Given the description of an element on the screen output the (x, y) to click on. 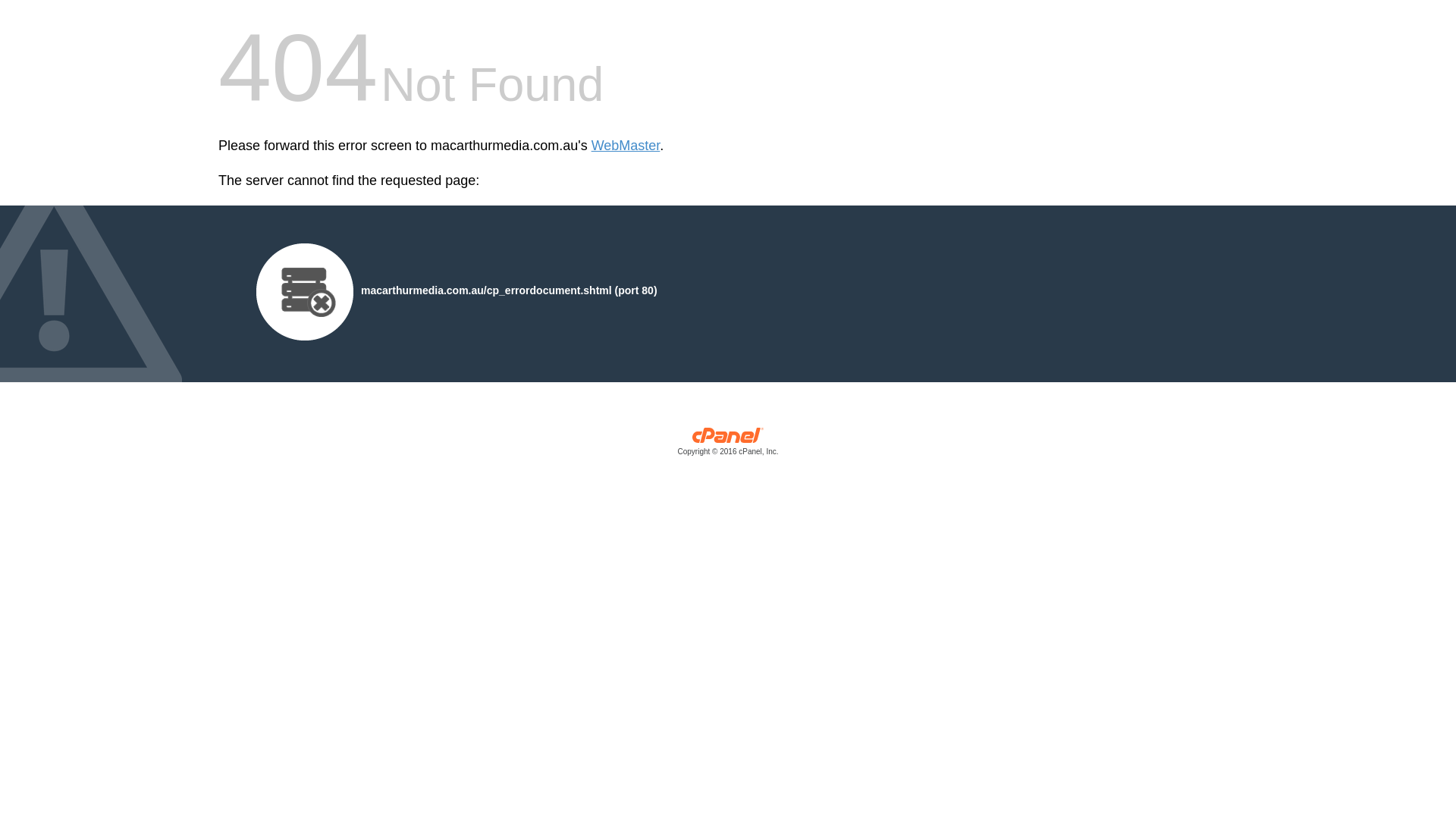
WebMaster Element type: text (625, 145)
